Given the description of an element on the screen output the (x, y) to click on. 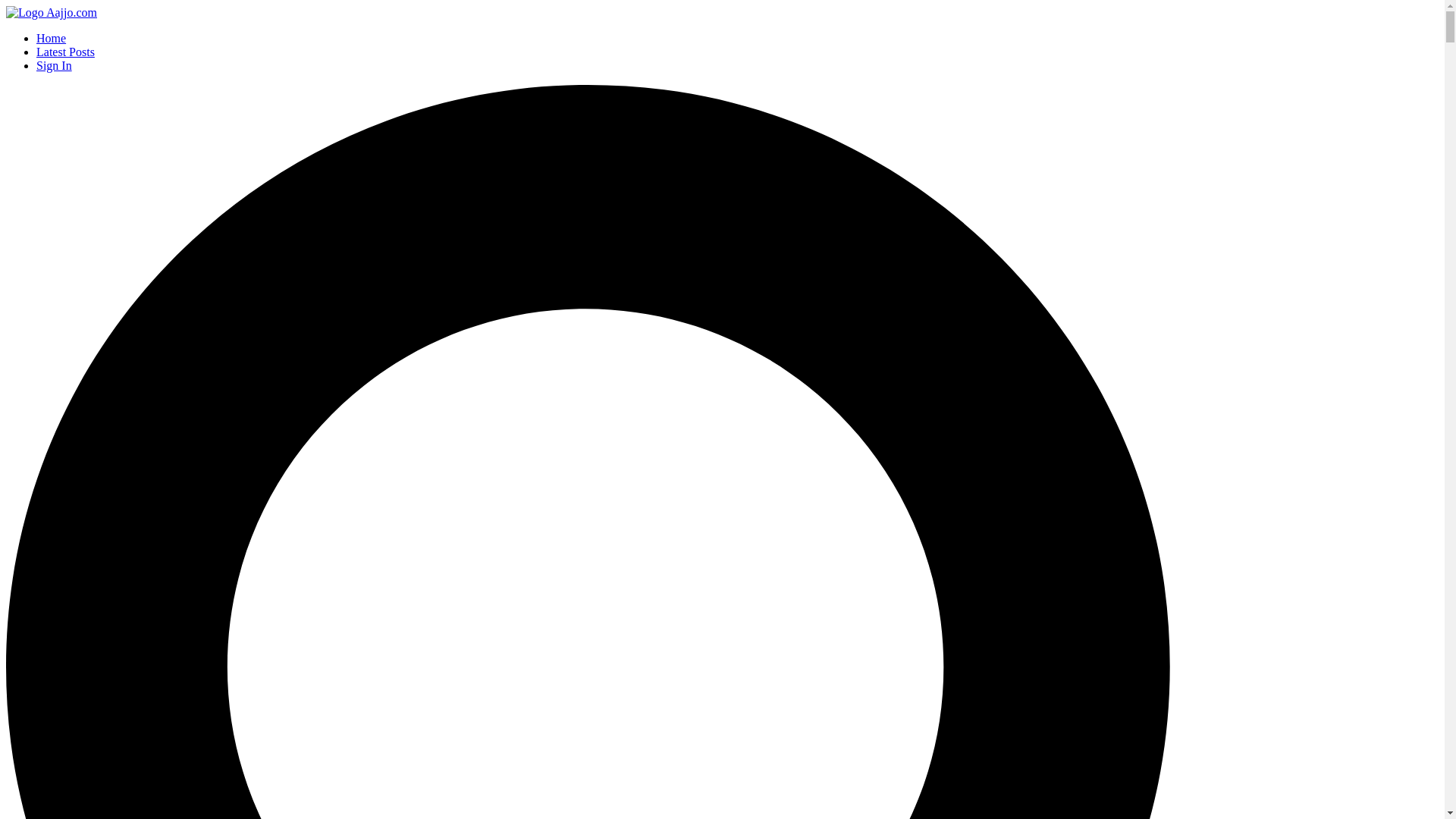
Home (50, 38)
Home (51, 12)
Sign In (53, 65)
Latest Posts (65, 51)
